Given the description of an element on the screen output the (x, y) to click on. 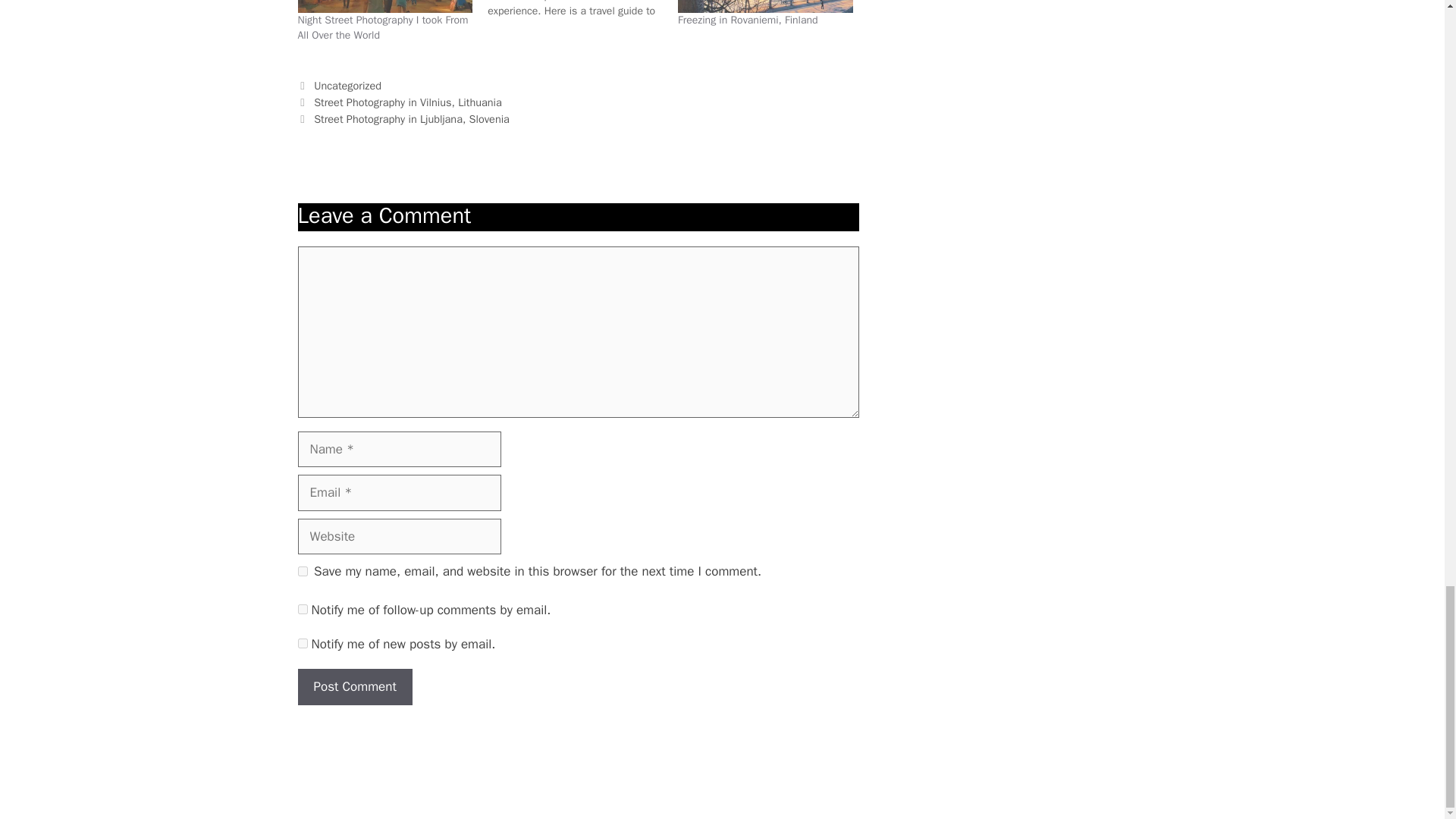
Night Street Photography I took From All Over the World (382, 27)
yes (302, 571)
Night Street Photography I took From All Over the World (384, 6)
Post Comment (354, 687)
Street Photography in Vilnius, Lithuania (408, 101)
Street Photography in Ljubljana, Slovenia (411, 119)
subscribe (302, 643)
Uncategorized (347, 85)
Freezing in Rovaniemi, Finland (748, 19)
Post Comment (354, 687)
